Given the description of an element on the screen output the (x, y) to click on. 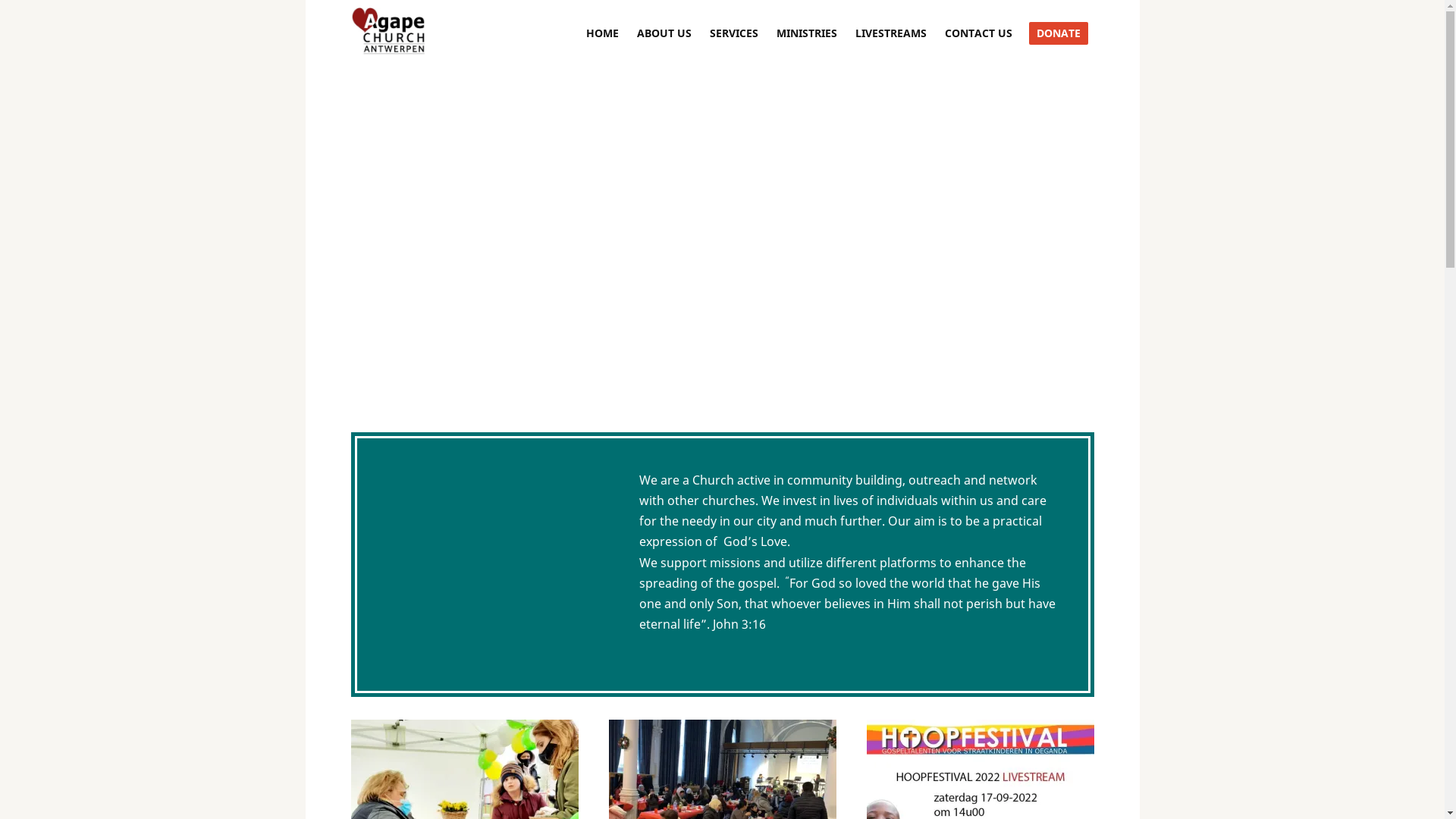
MINISTRIES Element type: text (806, 33)
DONATE Element type: text (1057, 32)
ABOUT US Element type: text (664, 33)
HOME Element type: text (601, 33)
CONTACT US Element type: text (978, 33)
SERVICES Element type: text (733, 33)
LIVESTREAMS Element type: text (890, 33)
